Given the description of an element on the screen output the (x, y) to click on. 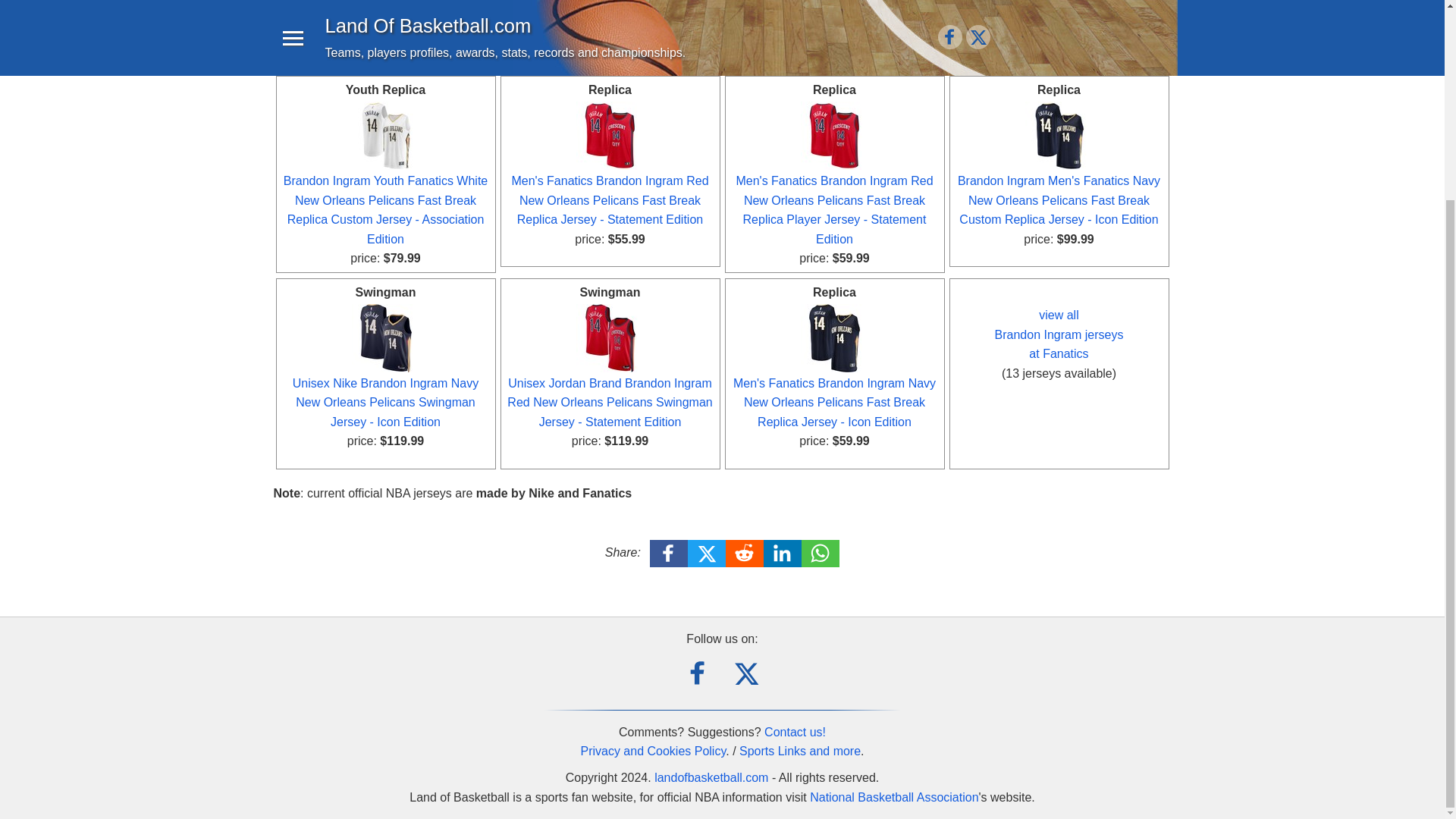
Facebook (668, 553)
LinkedIn (782, 553)
Reddit (744, 553)
Facebook (697, 673)
WhatsApp (820, 553)
